Given the description of an element on the screen output the (x, y) to click on. 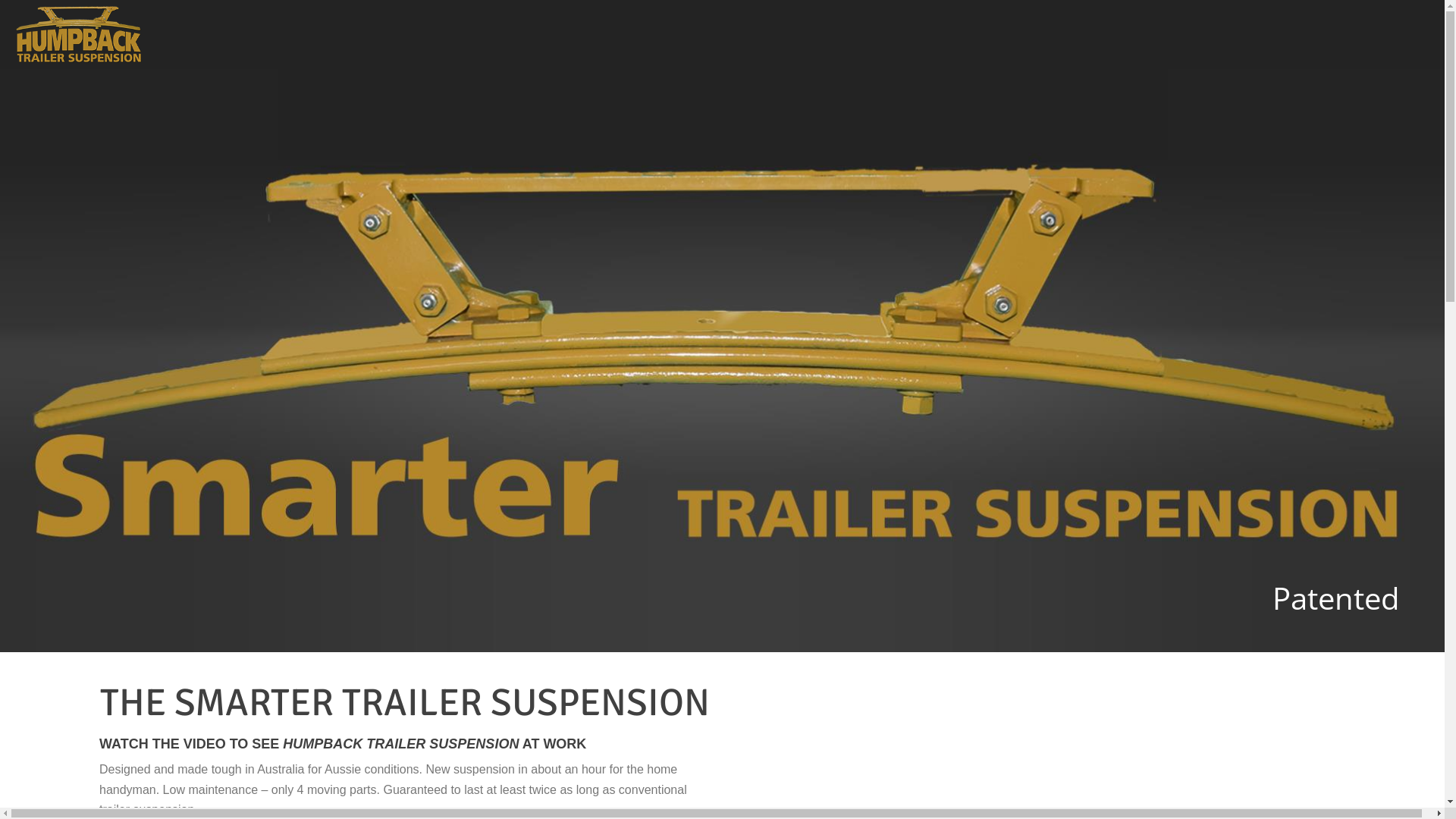
The Smarter Suspension Element type: hover (78, 34)
